Given the description of an element on the screen output the (x, y) to click on. 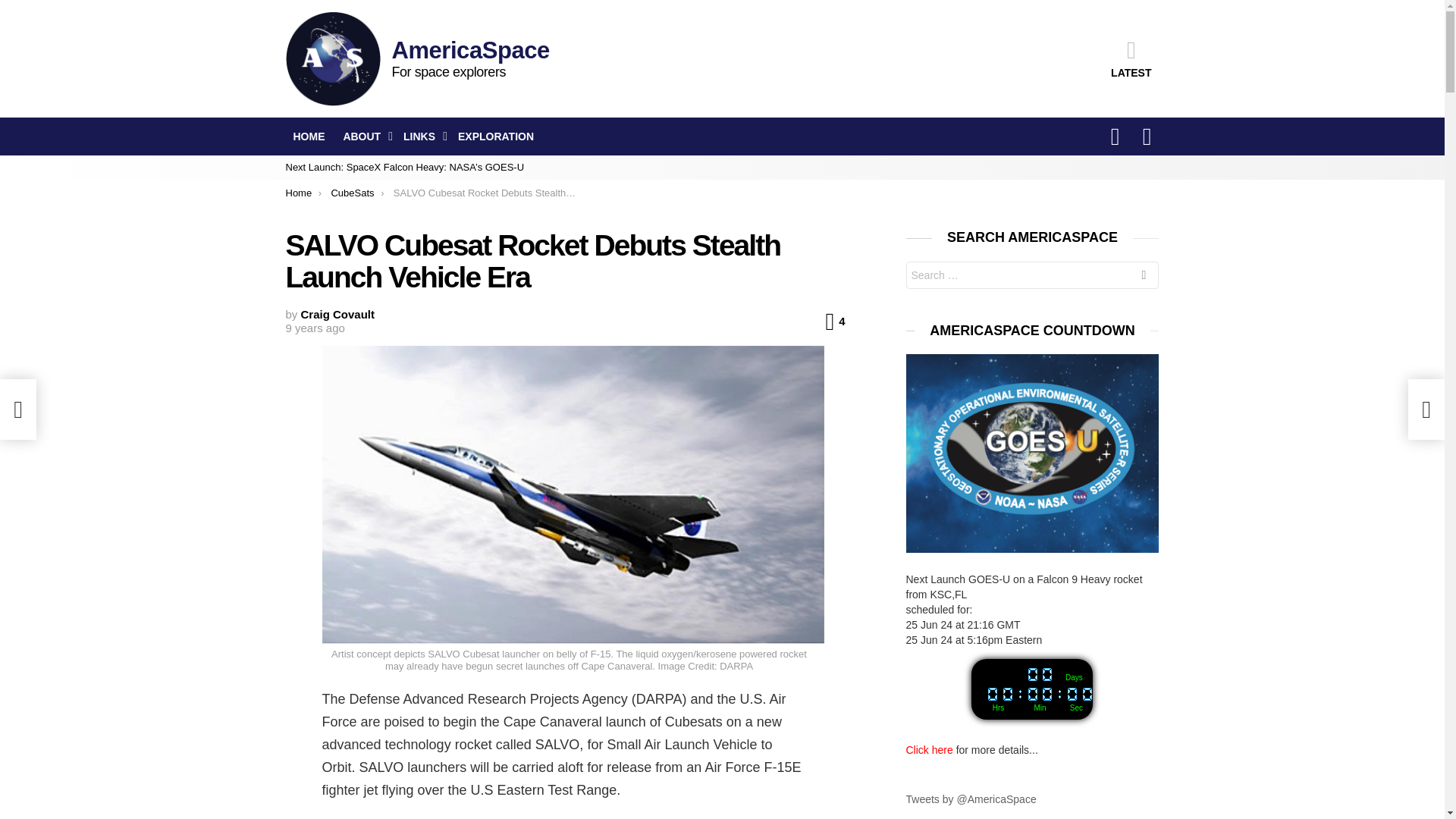
CubeSats (352, 193)
LINKS (421, 136)
About us (363, 136)
Home (298, 193)
Craig Covault (338, 314)
Posts by Craig Covault (338, 314)
EXPLORATION (495, 136)
Links to other sites (421, 136)
Welcome (308, 136)
ABOUT (363, 136)
June 16, 2015, 6:52 pm (314, 327)
HOME (308, 136)
LATEST (1130, 57)
